Given the description of an element on the screen output the (x, y) to click on. 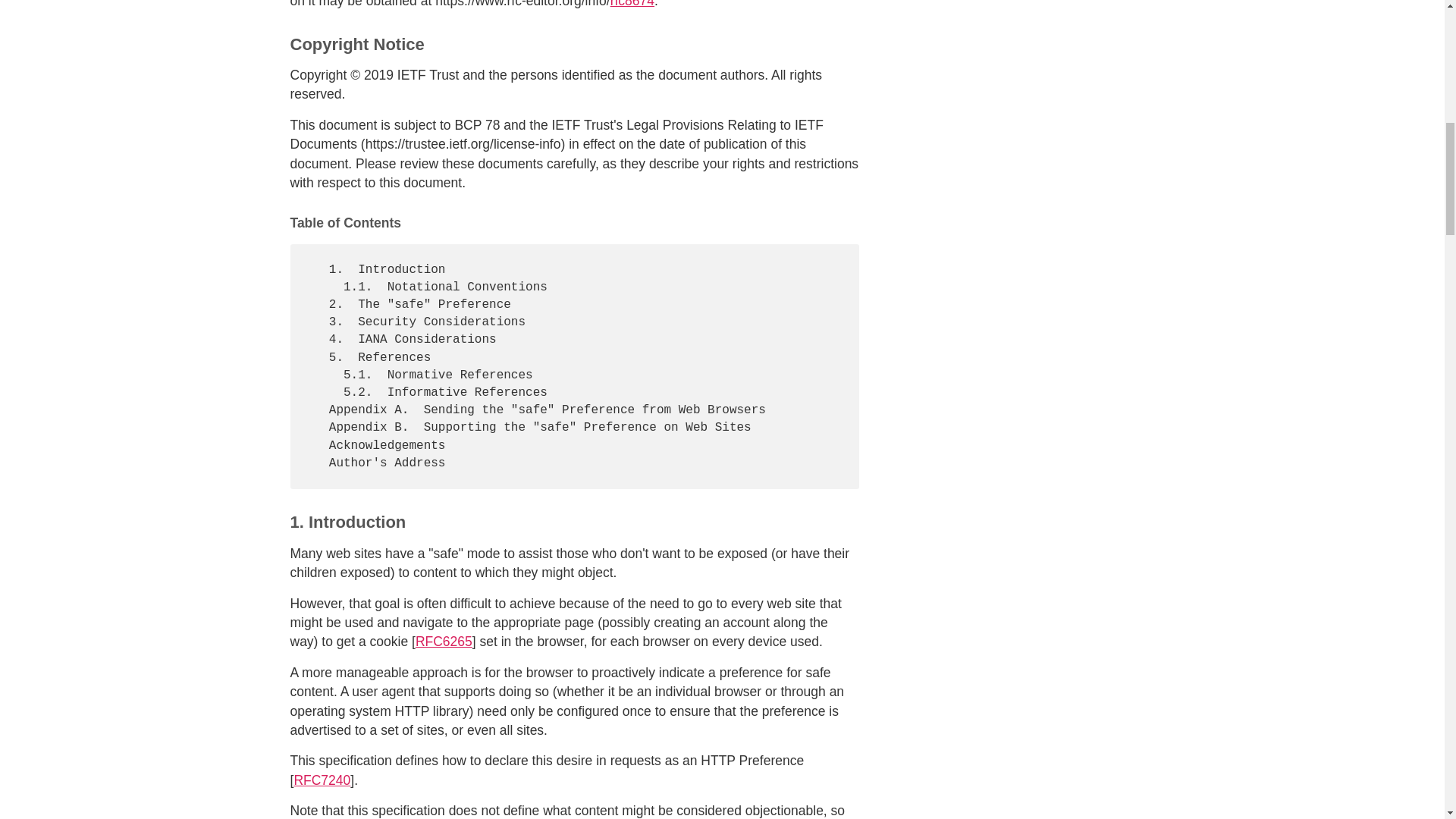
RFC6265 (442, 641)
RFC7240 (322, 780)
rfc8674 (631, 4)
